Given the description of an element on the screen output the (x, y) to click on. 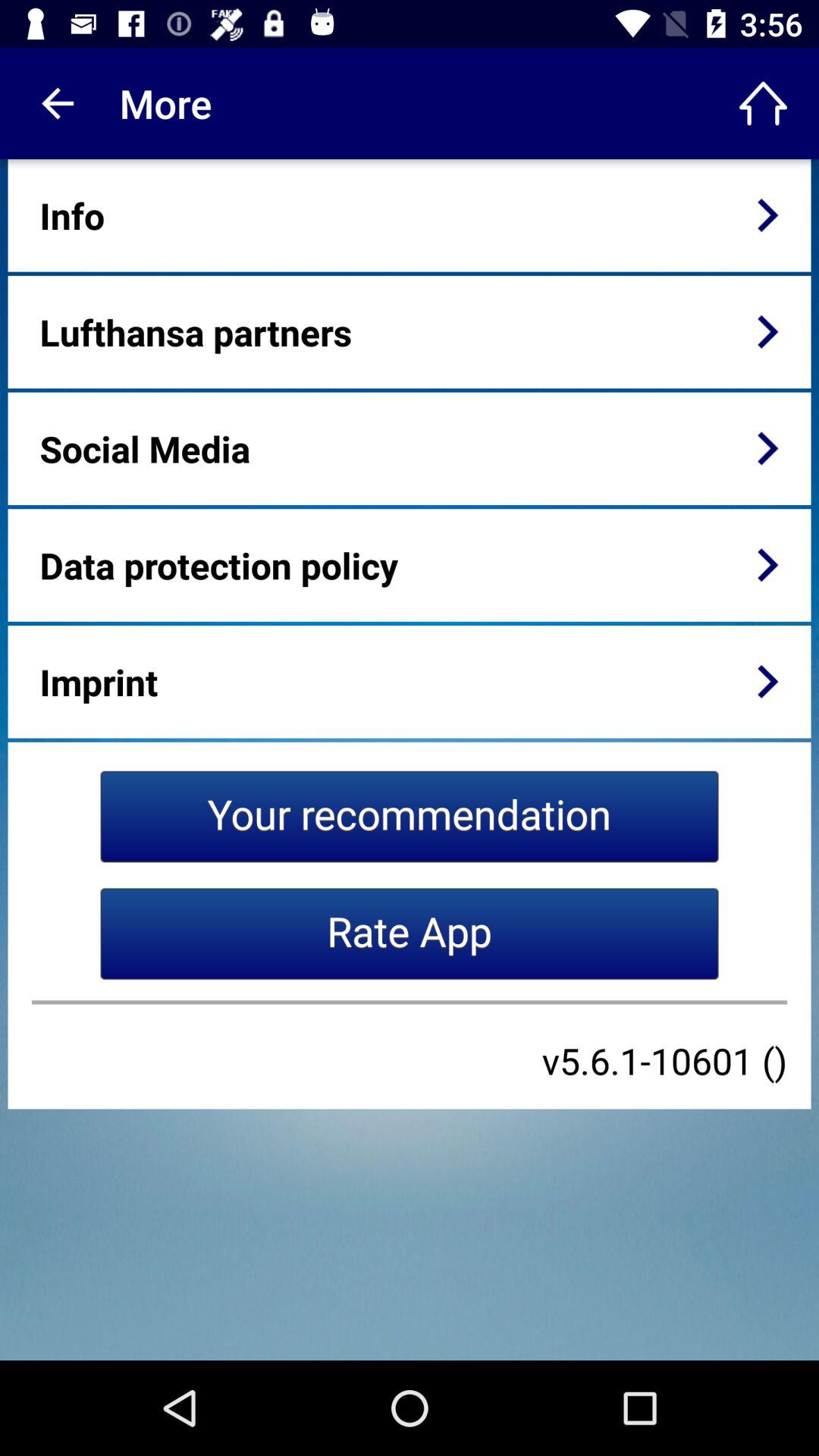
turn off the item next to more item (763, 103)
